Given the description of an element on the screen output the (x, y) to click on. 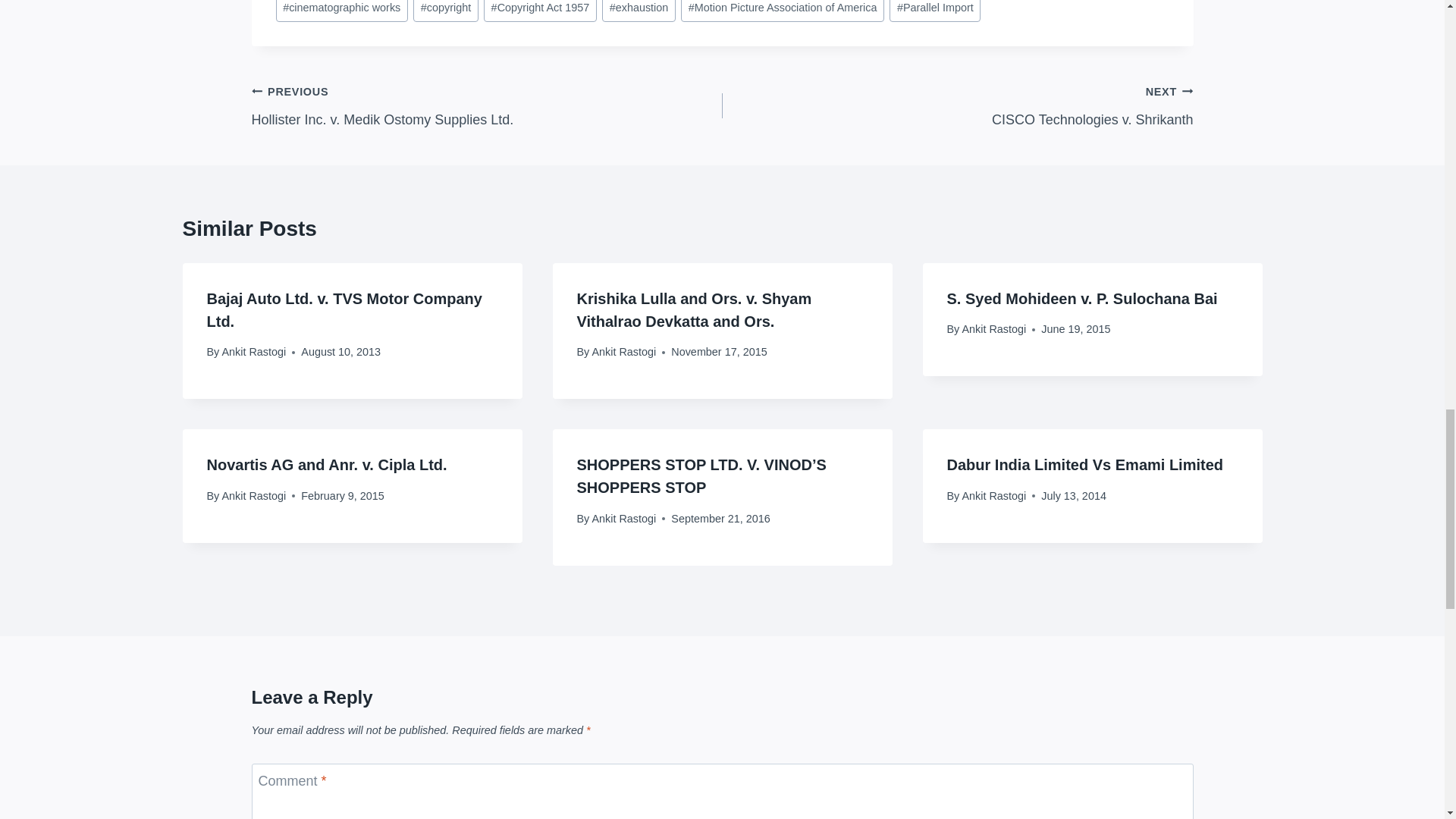
Novartis AG and Anr. v. Cipla Ltd. (326, 464)
S. Syed Mohideen v. P. Sulochana Bai (1081, 298)
Ankit Rastogi (623, 351)
Motion Picture Association of America (782, 11)
Parallel Import (934, 11)
Krishika Lulla and Ors. v. Shyam Vithalrao Devkatta and Ors. (693, 310)
cinematographic works (341, 11)
exhaustion (638, 11)
Ankit Rastogi (253, 351)
